Given the description of an element on the screen output the (x, y) to click on. 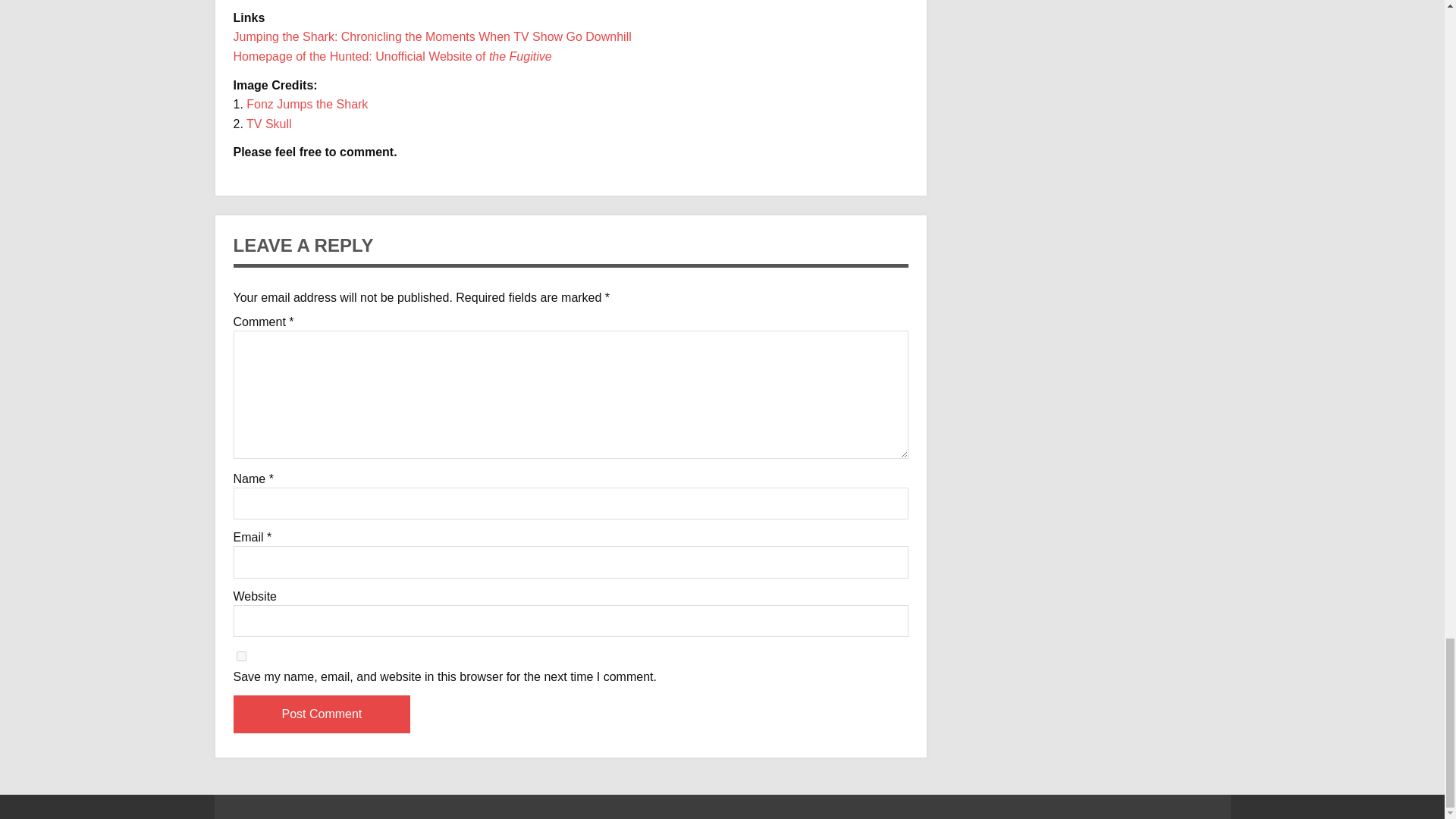
TV Skull (269, 123)
Post Comment (321, 714)
Homepage of the Hunted: Unofficial Website of the Fugitive (391, 56)
Fonz Jumps the Shark (307, 103)
Post Comment (321, 714)
Unofficial Website of The Fugitive (391, 56)
yes (240, 655)
Jumping the Shark (431, 36)
